Given the description of an element on the screen output the (x, y) to click on. 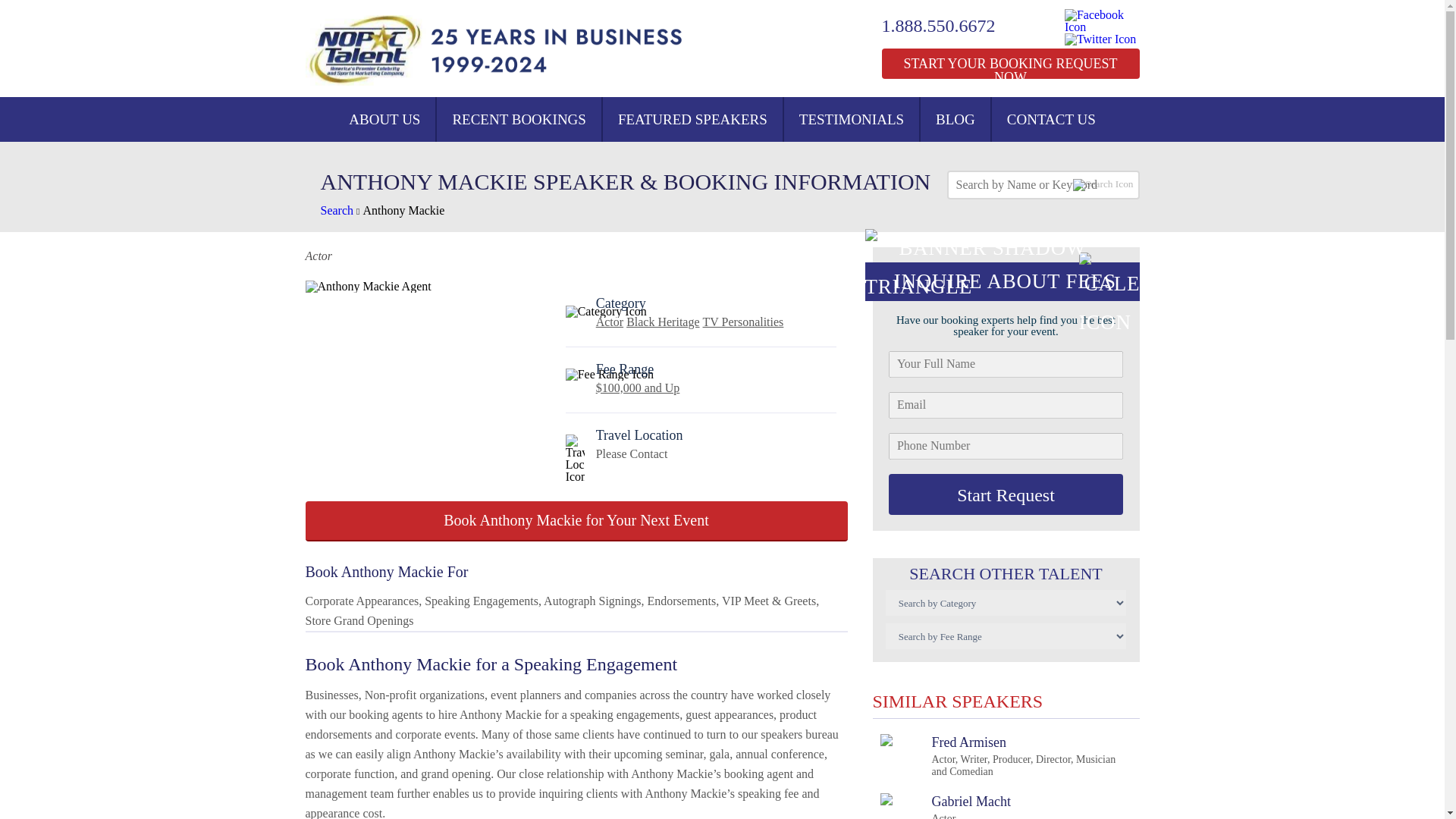
1.888.550.6672 (947, 25)
TV Personalities (743, 321)
START YOUR BOOKING REQUEST NOW (1009, 63)
TESTIMONIALS (851, 119)
FEATURED SPEAKERS (692, 119)
Start Request (1006, 494)
Search (336, 210)
BLOG (955, 119)
ABOUT US (384, 119)
Black Heritage (662, 321)
